Given the description of an element on the screen output the (x, y) to click on. 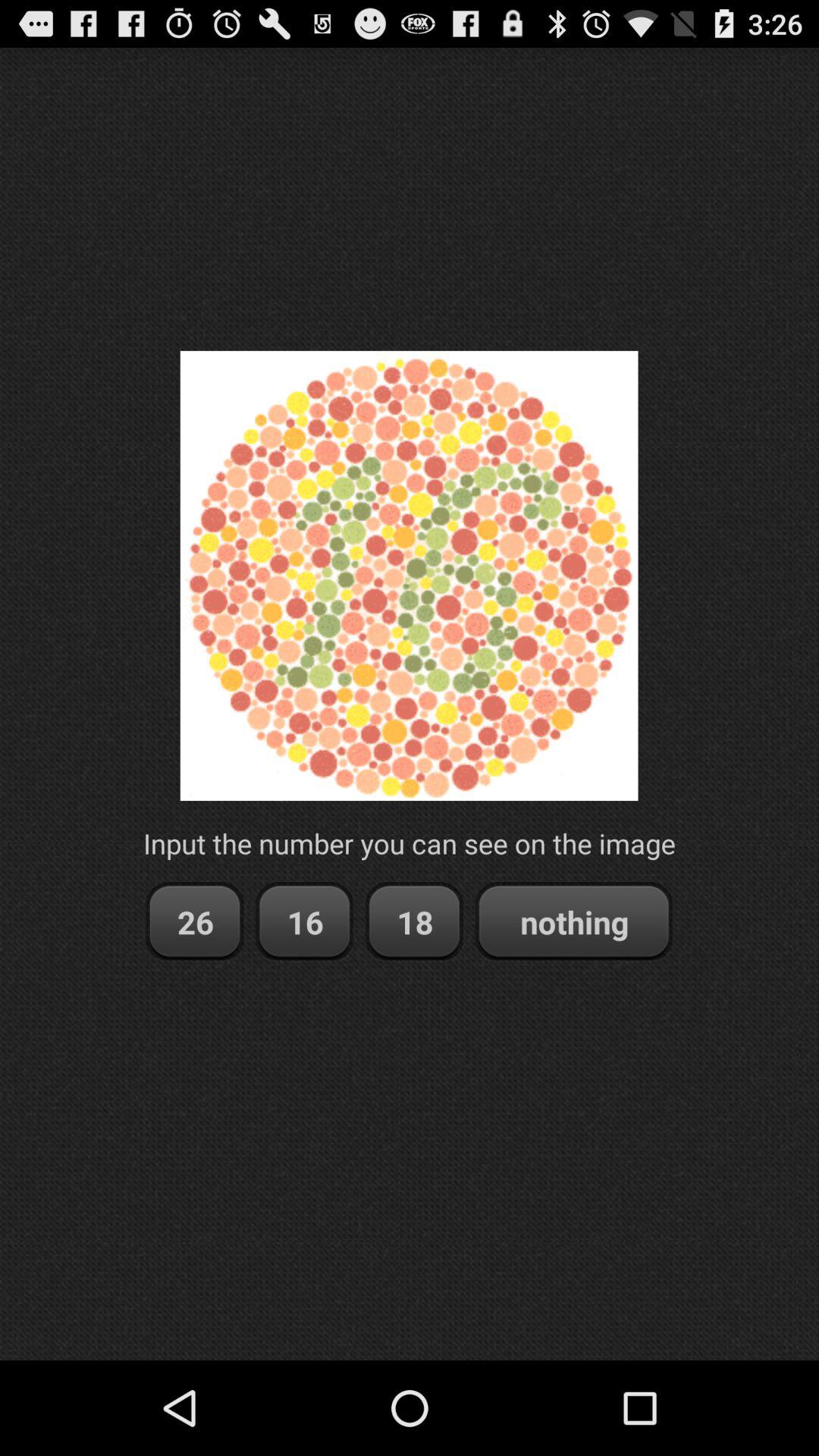
tap the item to the right of the 16 (414, 921)
